Given the description of an element on the screen output the (x, y) to click on. 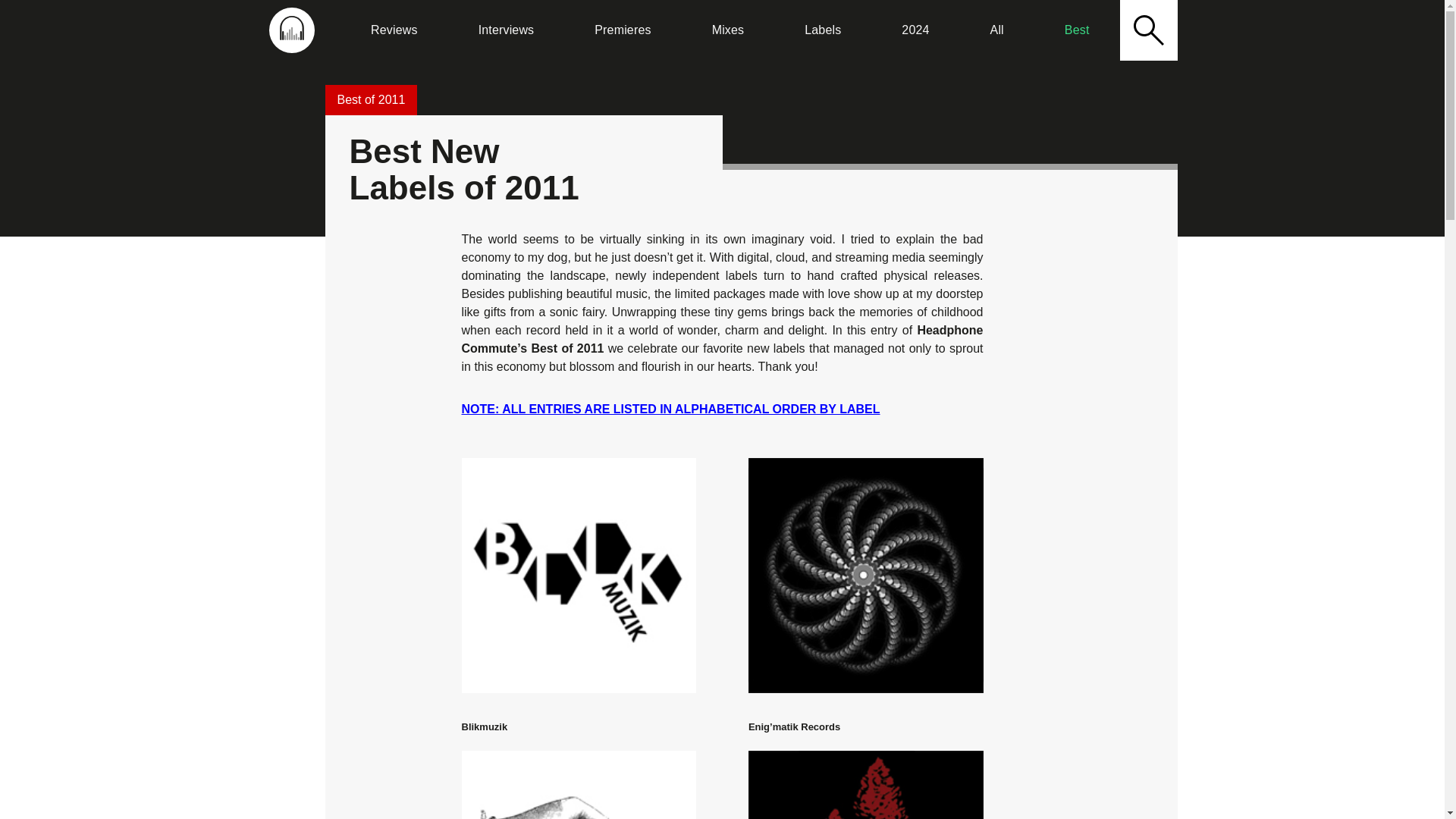
Mixes (728, 30)
Best of 2011 (370, 100)
Best (1077, 30)
2024 (914, 30)
Labels (822, 30)
Interviews (505, 30)
Premieres (622, 30)
Reviews (394, 30)
